Given the description of an element on the screen output the (x, y) to click on. 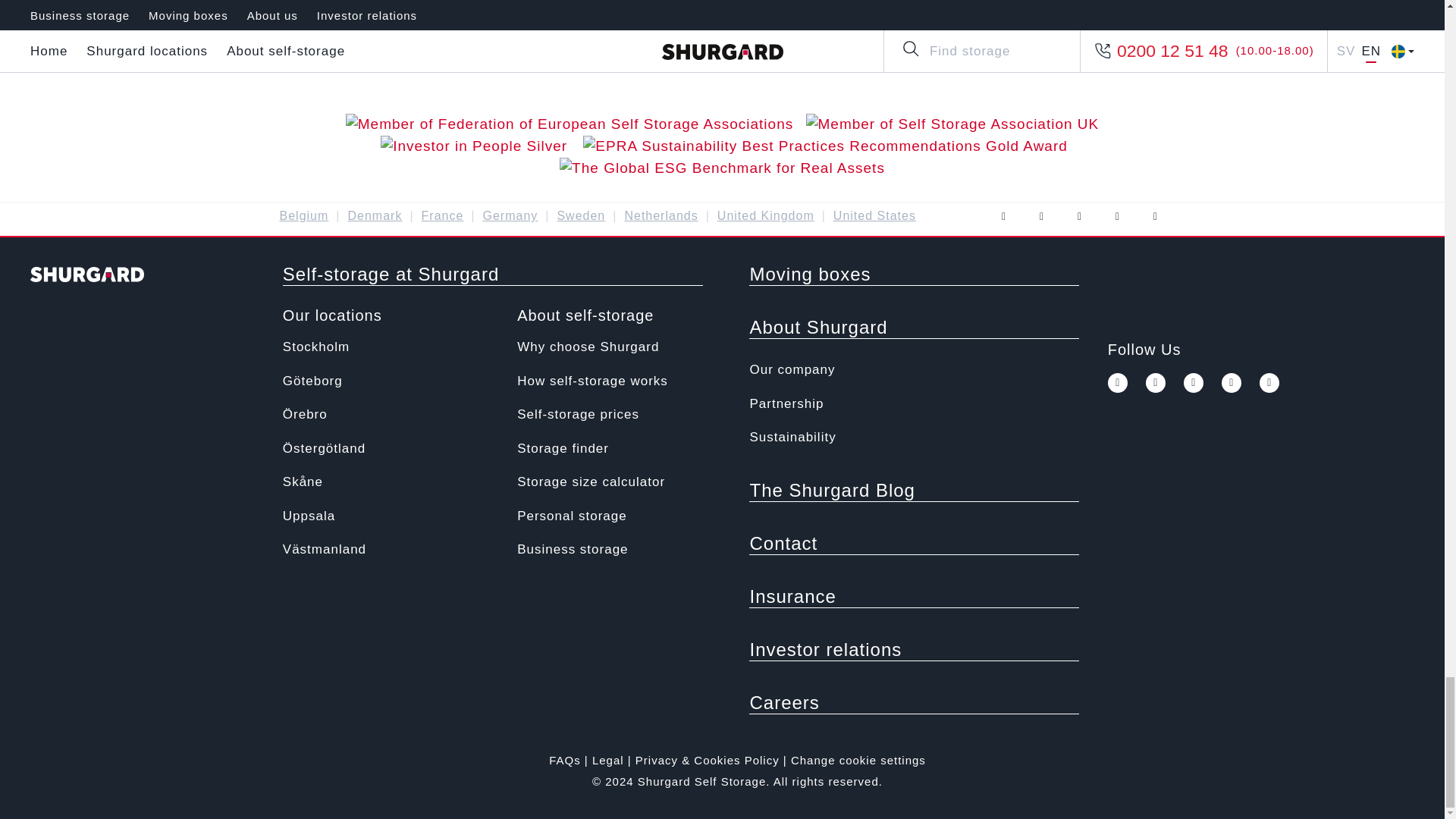
youtube (1078, 216)
youtube (1193, 383)
facebook (1002, 216)
linkedin (1154, 216)
pinterest (1231, 383)
twitter (1155, 383)
pinterest (1116, 216)
twitter (1040, 216)
facebook (1117, 383)
linkedin (1269, 383)
